Given the description of an element on the screen output the (x, y) to click on. 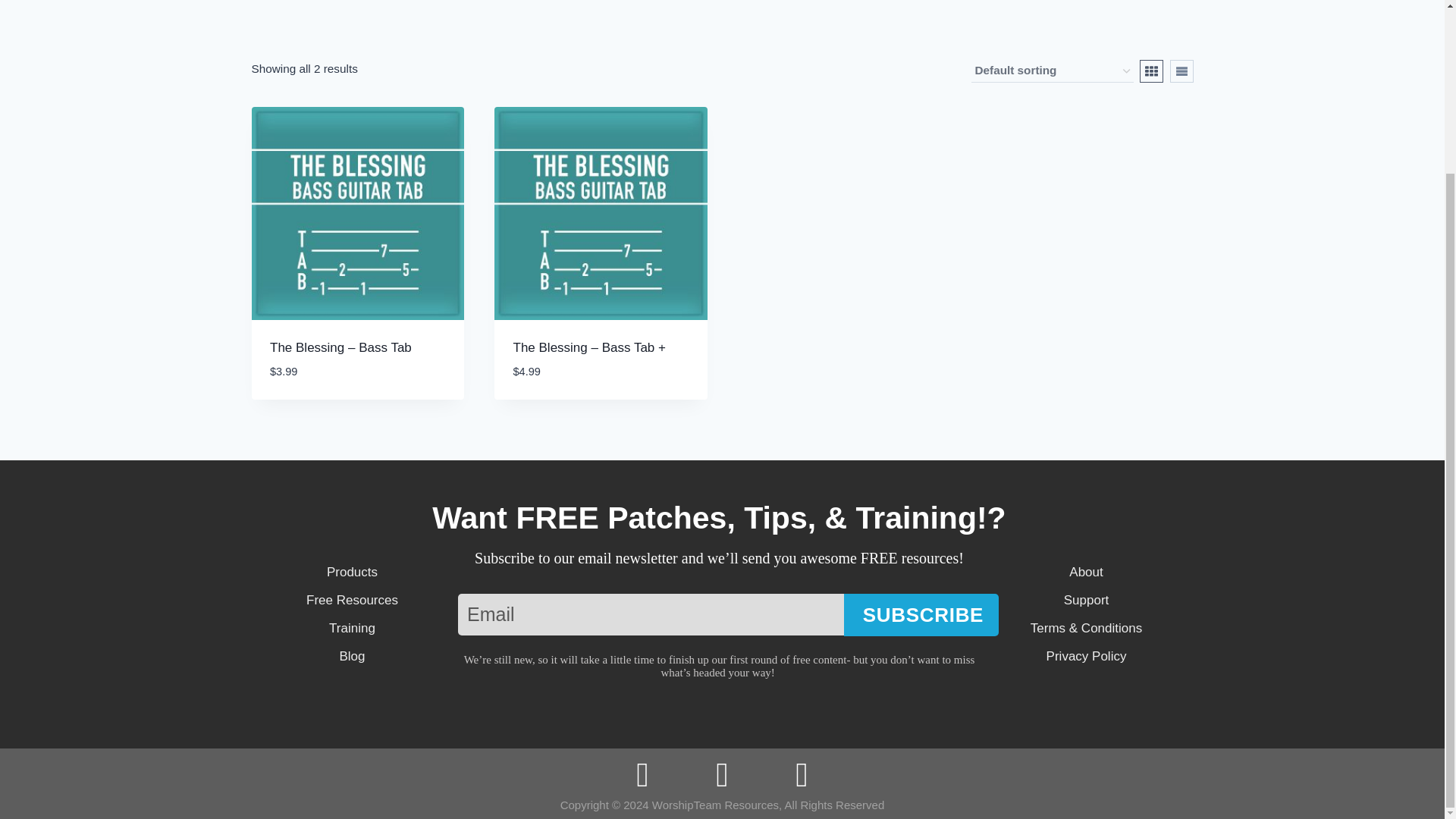
Products (351, 571)
Free Resources (351, 599)
SUBSCRIBE (921, 614)
Blog (351, 656)
Training (351, 628)
About (1085, 571)
Grid View (1151, 70)
Support (1085, 599)
List View (1180, 70)
